Given the description of an element on the screen output the (x, y) to click on. 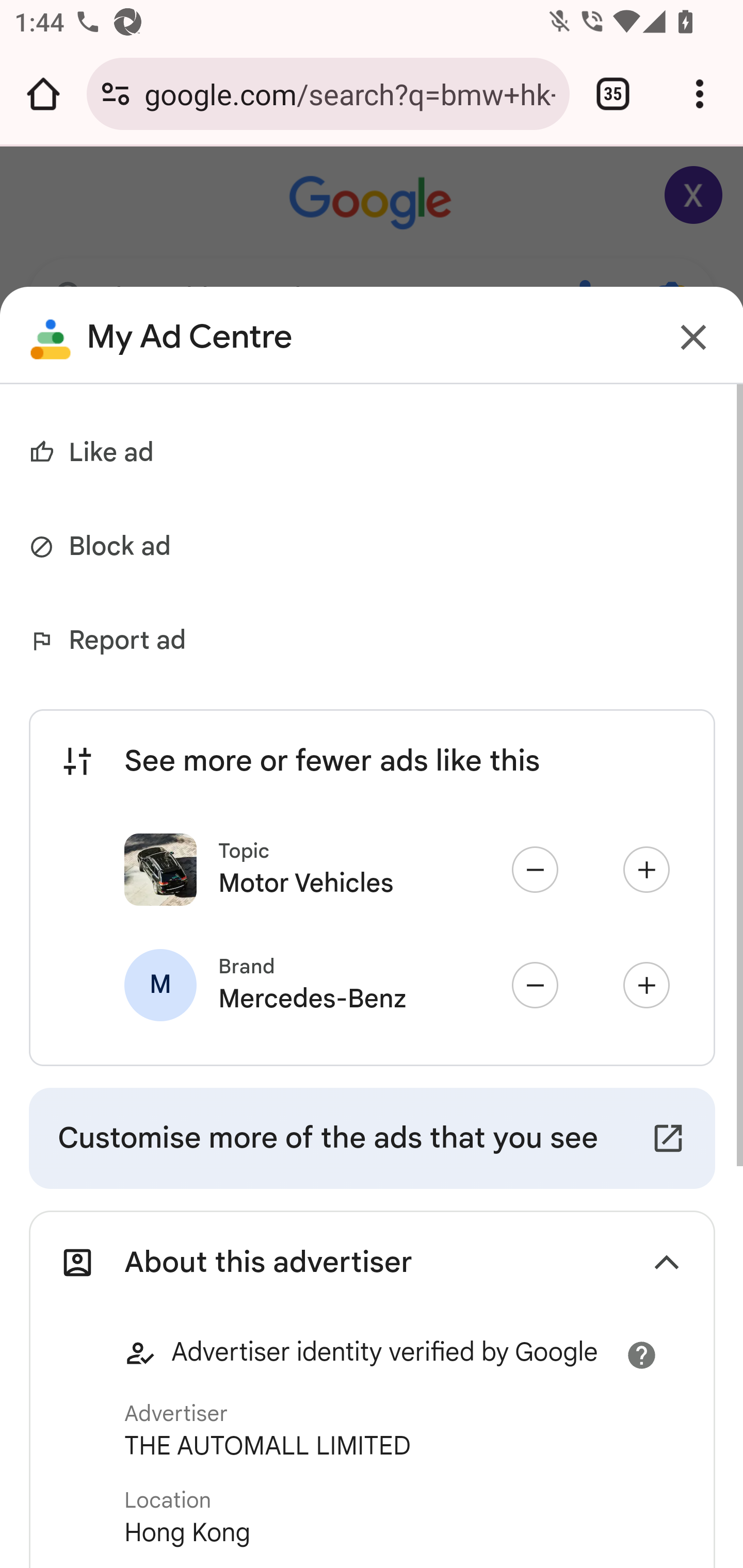
Open the home page (43, 93)
Connection is secure (115, 93)
Switch or close tabs (612, 93)
Customize and control Google Chrome (699, 93)
